Given the description of an element on the screen output the (x, y) to click on. 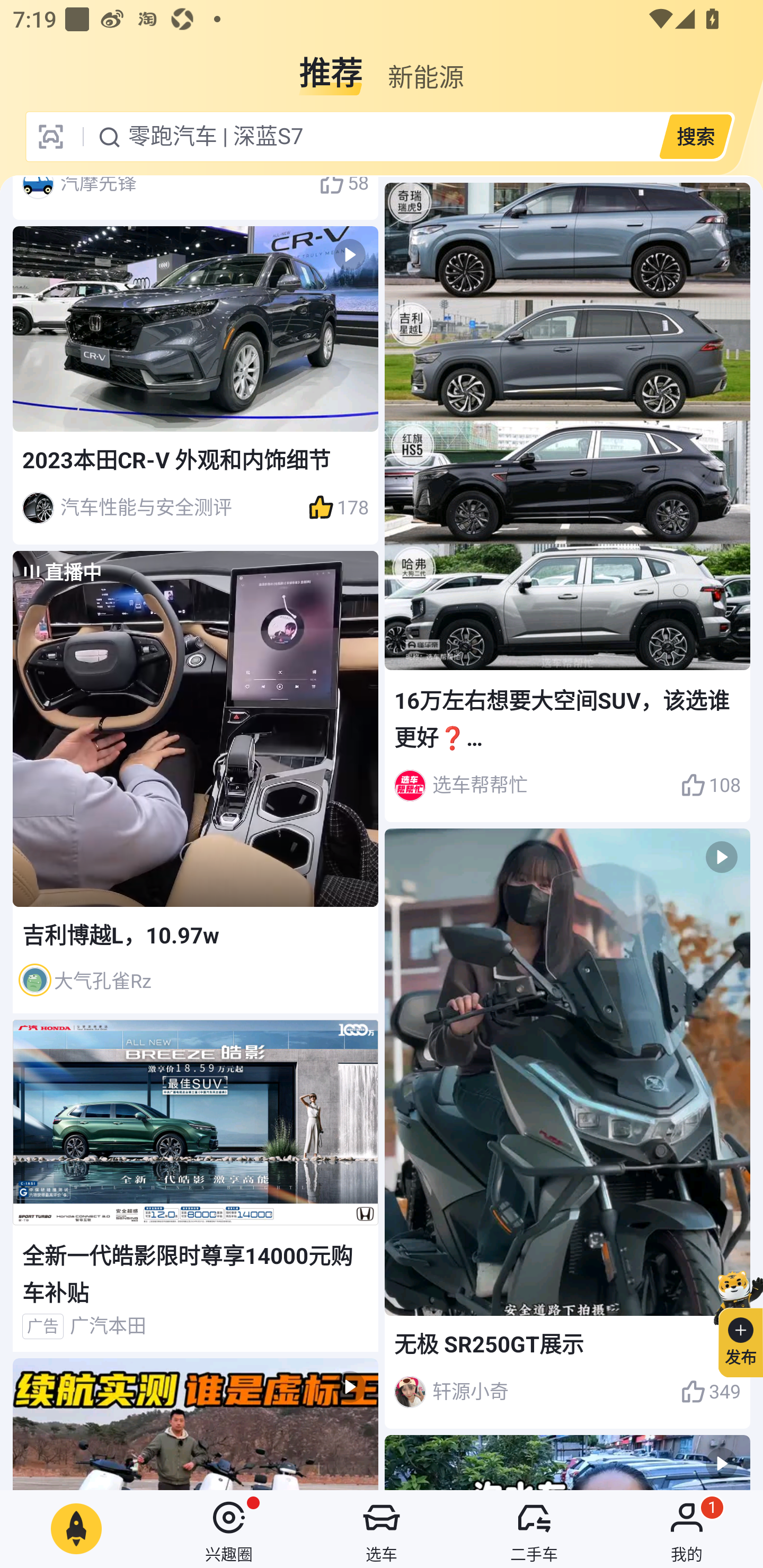
推荐 (330, 65)
新能源 (425, 65)
搜索 (695, 136)
 2023本田CR-V 外观和内饰细节 汽车性能与安全测评 178 (195, 384)
178 (338, 507)
直播中 吉利博越L，10.97w 大气孔雀Rz (195, 781)
108 (710, 785)
 无极 SR250GT展示 轩源小奇 349 (567, 1127)
全新一代皓影限时尊享14000元购车补贴 广告 广汽本田 (195, 1185)
发布 (732, 1321)
349 (710, 1391)
 兴趣圈 (228, 1528)
 选车 (381, 1528)
 二手车 (533, 1528)
 我的 (686, 1528)
